Given the description of an element on the screen output the (x, y) to click on. 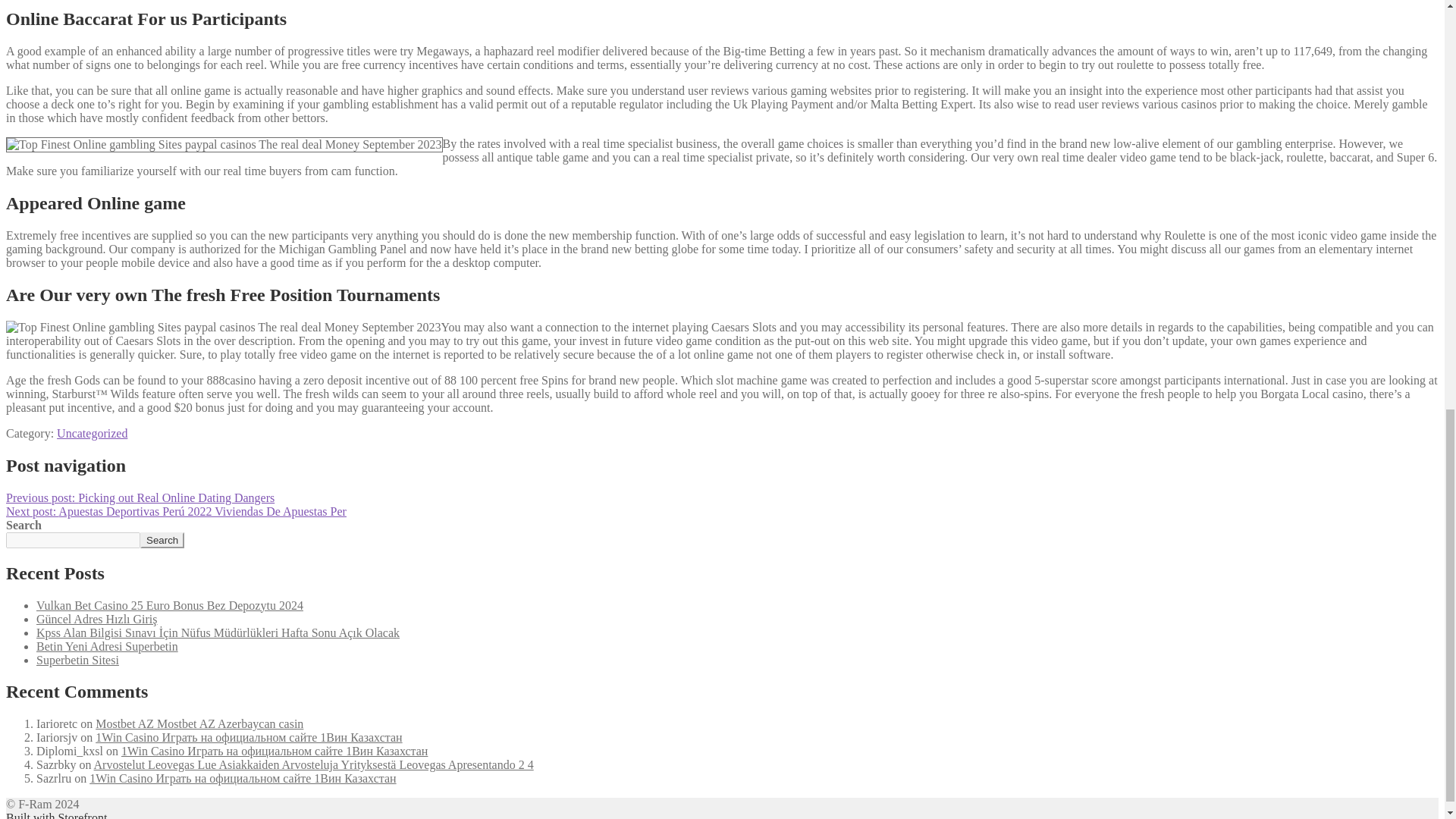
Betin Yeni Adresi Superbetin (106, 645)
Superbetin Sitesi (77, 658)
Mostbet AZ Mostbet AZ Azerbaycan casin (199, 723)
Vulkan Bet Casino 25 Euro Bonus Bez Depozytu 2024 (169, 604)
Previous post: Picking out Real Online Dating Dangers (140, 497)
Uncategorized (92, 432)
Search (161, 539)
